Given the description of an element on the screen output the (x, y) to click on. 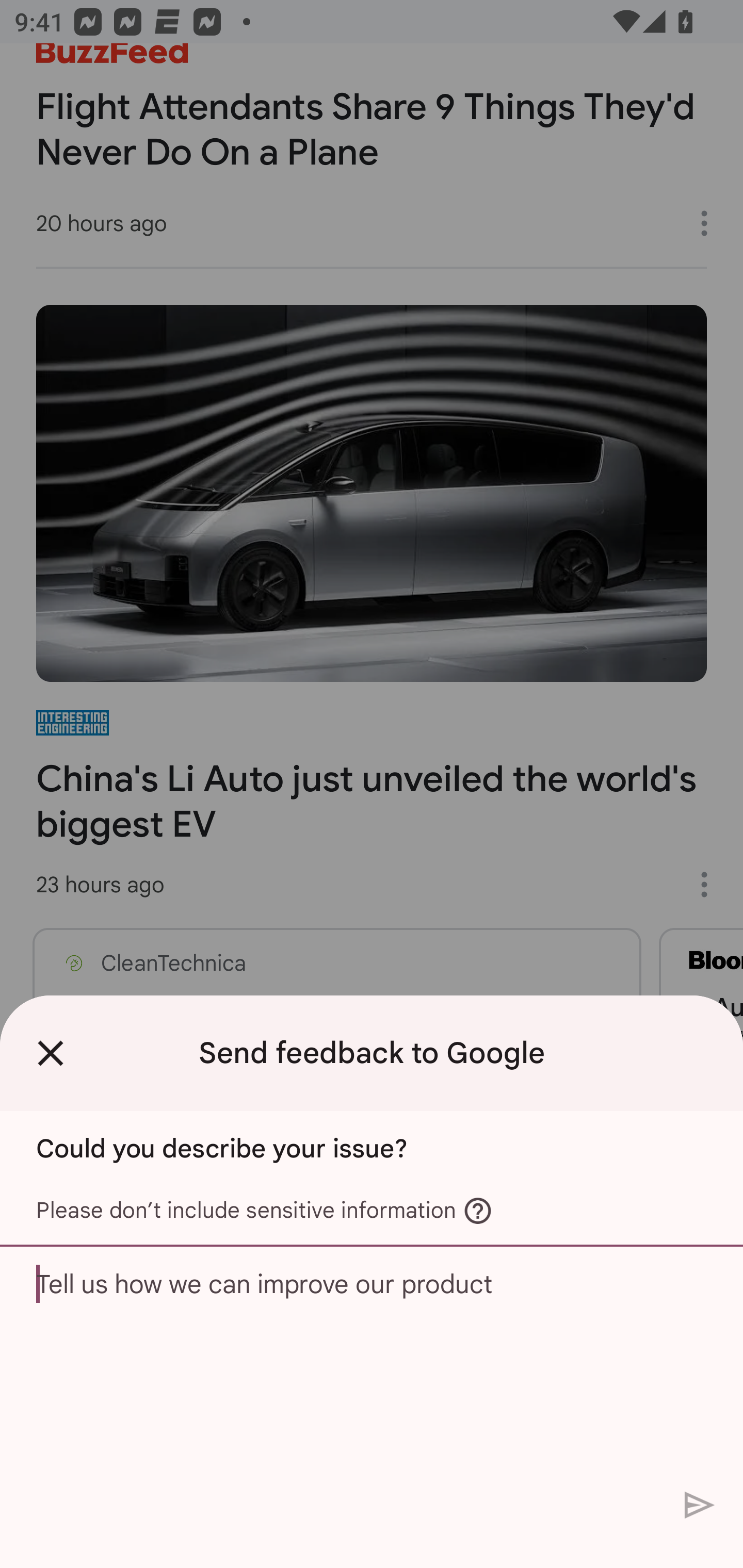
Close Feedback (50, 1052)
Tell us how we can improve our product (371, 1362)
Submit the feedback that you entered (699, 1504)
